Given the description of an element on the screen output the (x, y) to click on. 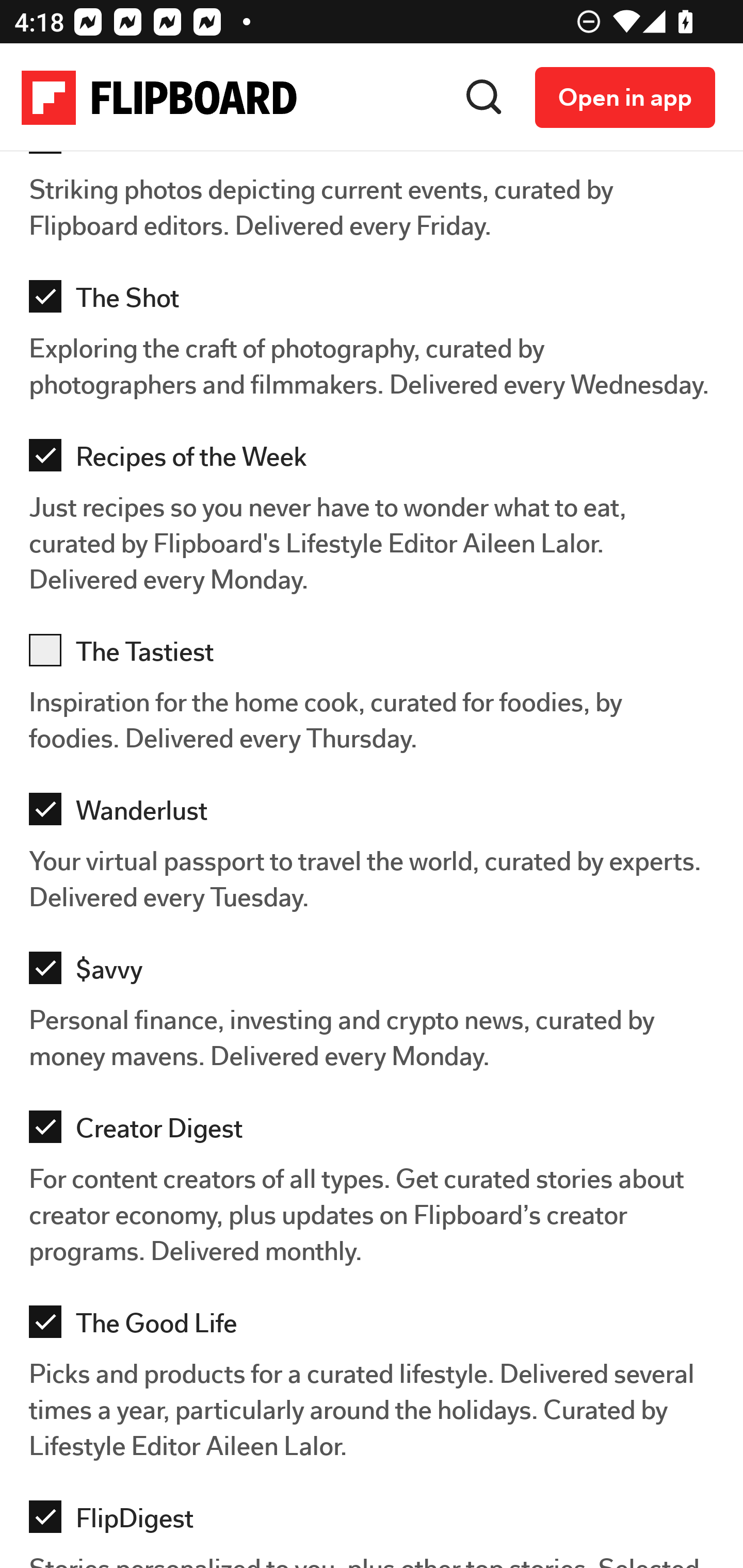
Open in app (625, 99)
Search (484, 97)
checkmark The Shot (376, 302)
checkmark Recipes of the Week (376, 460)
The Tastiest (376, 655)
checkmark Wanderlust (376, 815)
checkmark $avvy (376, 973)
checkmark Creator Digest (376, 1132)
checkmark The Good Life (376, 1327)
checkmark FlipDigest (376, 1522)
